Given the description of an element on the screen output the (x, y) to click on. 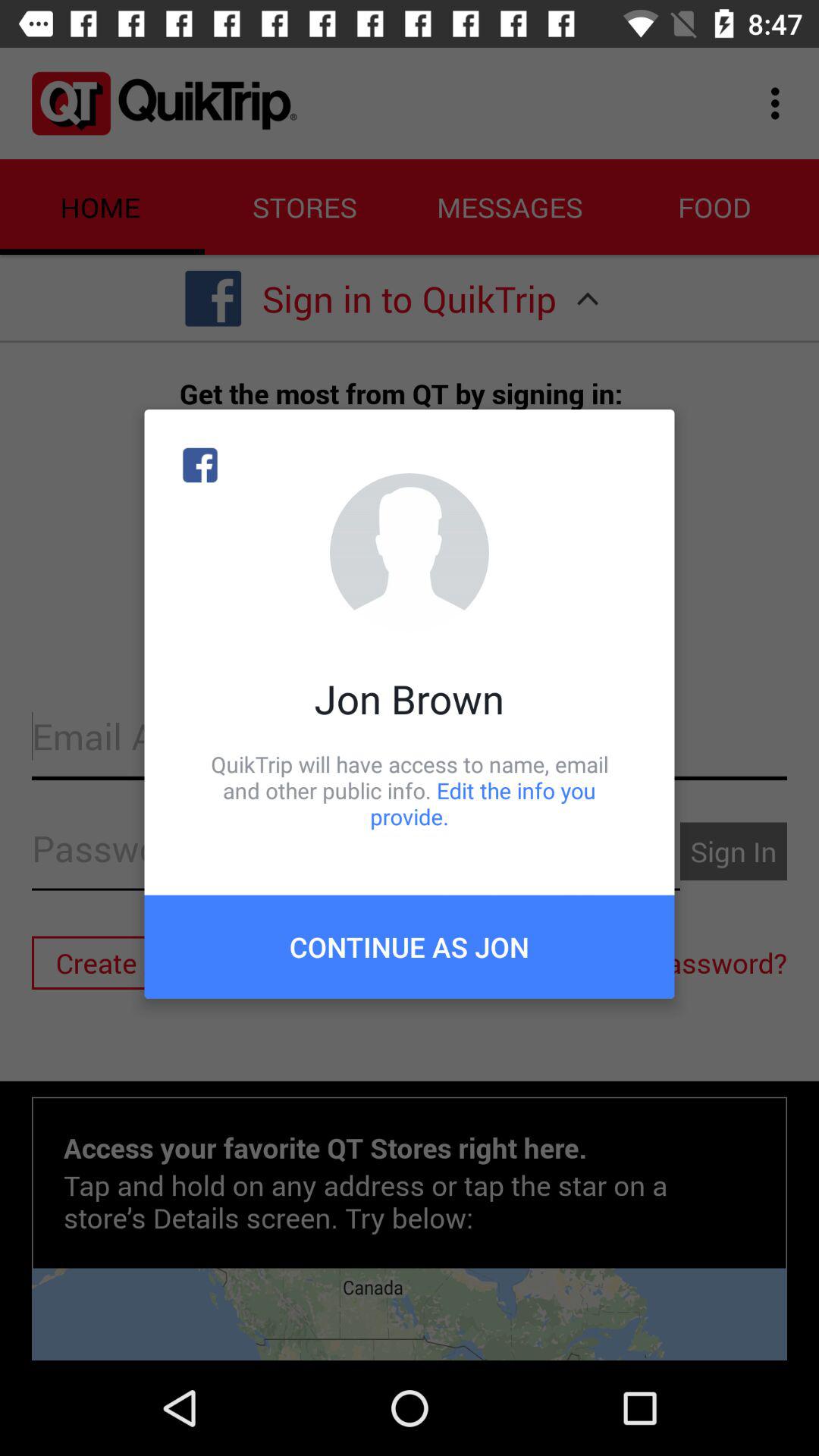
turn off the icon below jon brown icon (409, 790)
